Given the description of an element on the screen output the (x, y) to click on. 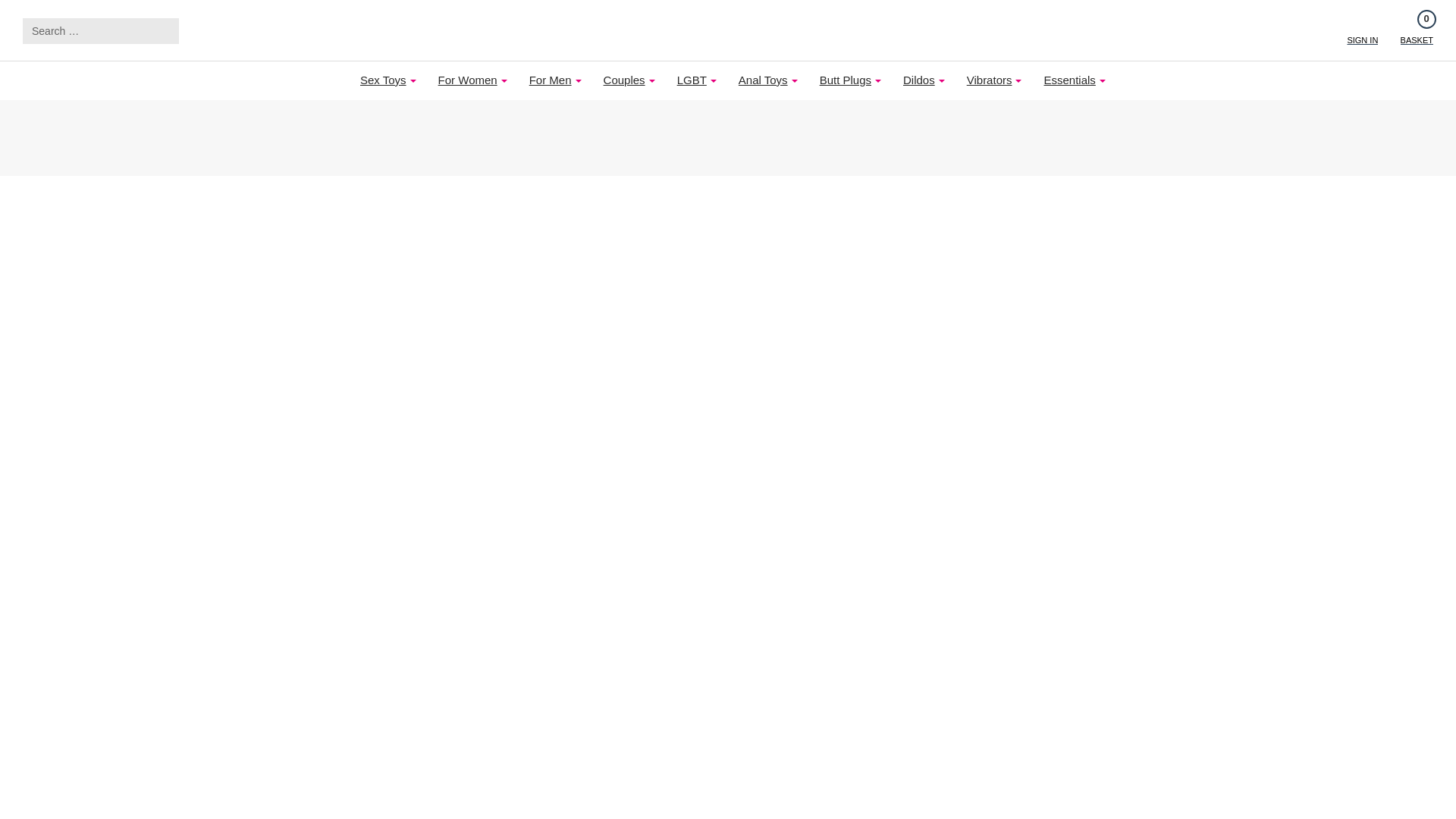
For Men (550, 80)
Search (163, 30)
Couples (624, 80)
Anal Toys (762, 80)
SIGN IN (1361, 30)
Search (163, 30)
Sex Toys (383, 80)
Search (1416, 30)
LGBT (163, 30)
For Women (691, 80)
